Given the description of an element on the screen output the (x, y) to click on. 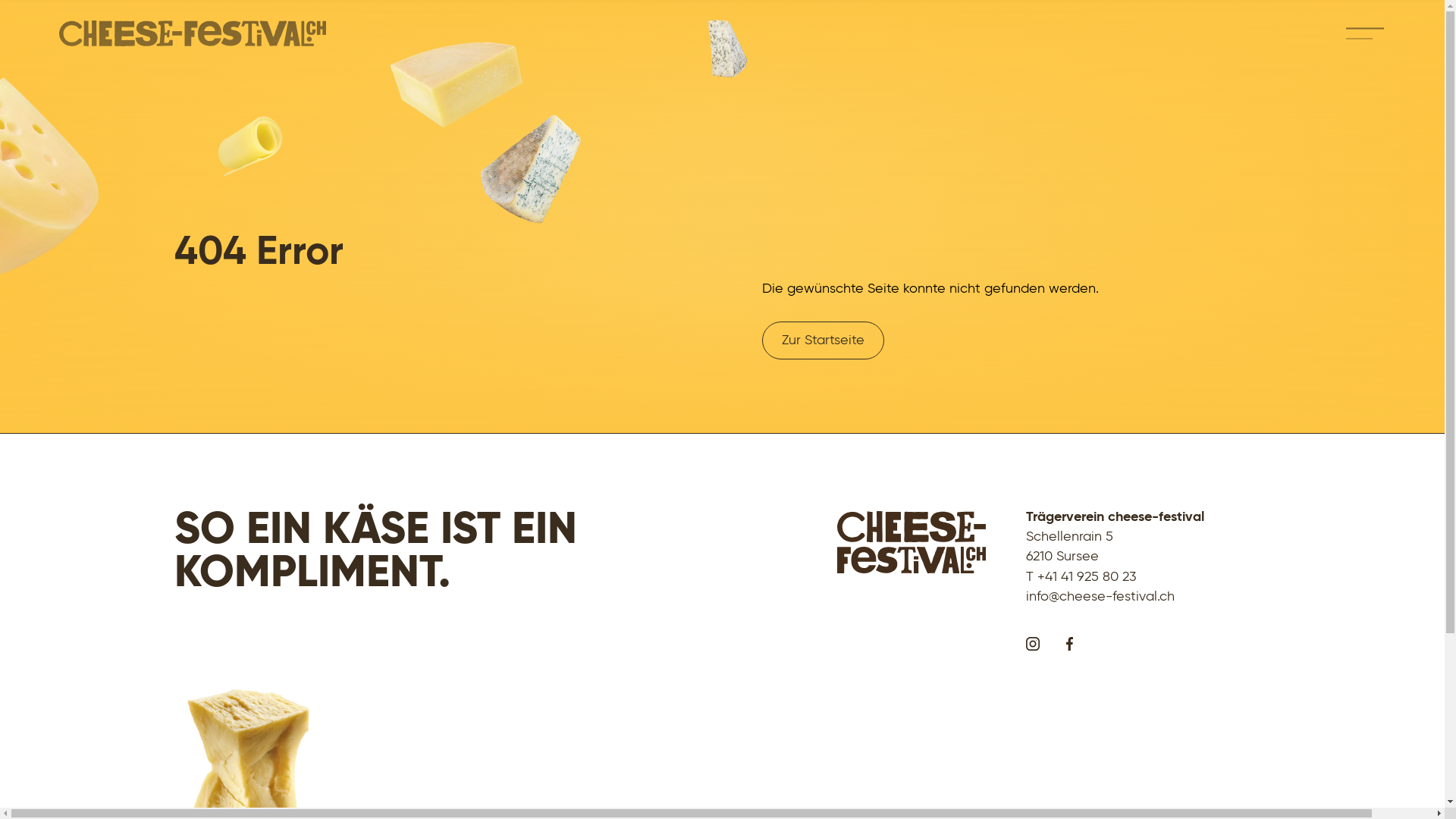
info@cheese-festival.ch Element type: text (1100, 595)
Zur Startseite Element type: text (823, 340)
